Given the description of an element on the screen output the (x, y) to click on. 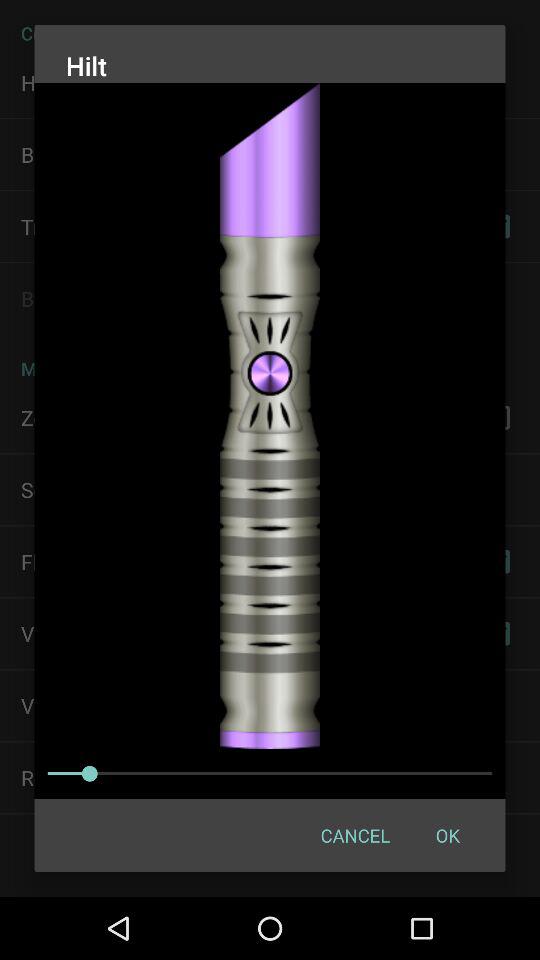
press the icon next to ok (354, 834)
